Given the description of an element on the screen output the (x, y) to click on. 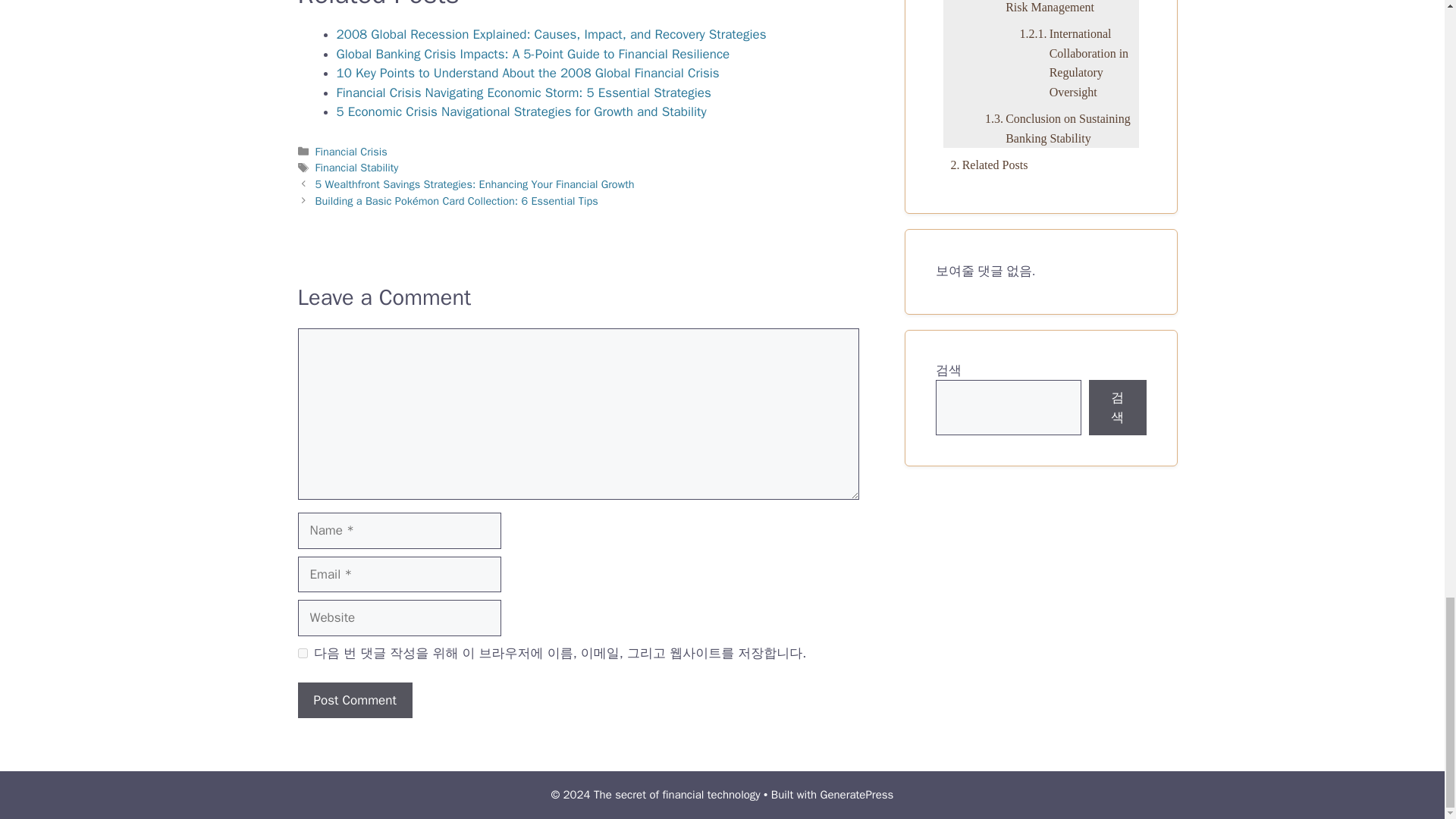
Post Comment (354, 700)
Financial Crisis (351, 151)
Financial Stability (356, 167)
Post Comment (354, 700)
yes (302, 653)
